Given the description of an element on the screen output the (x, y) to click on. 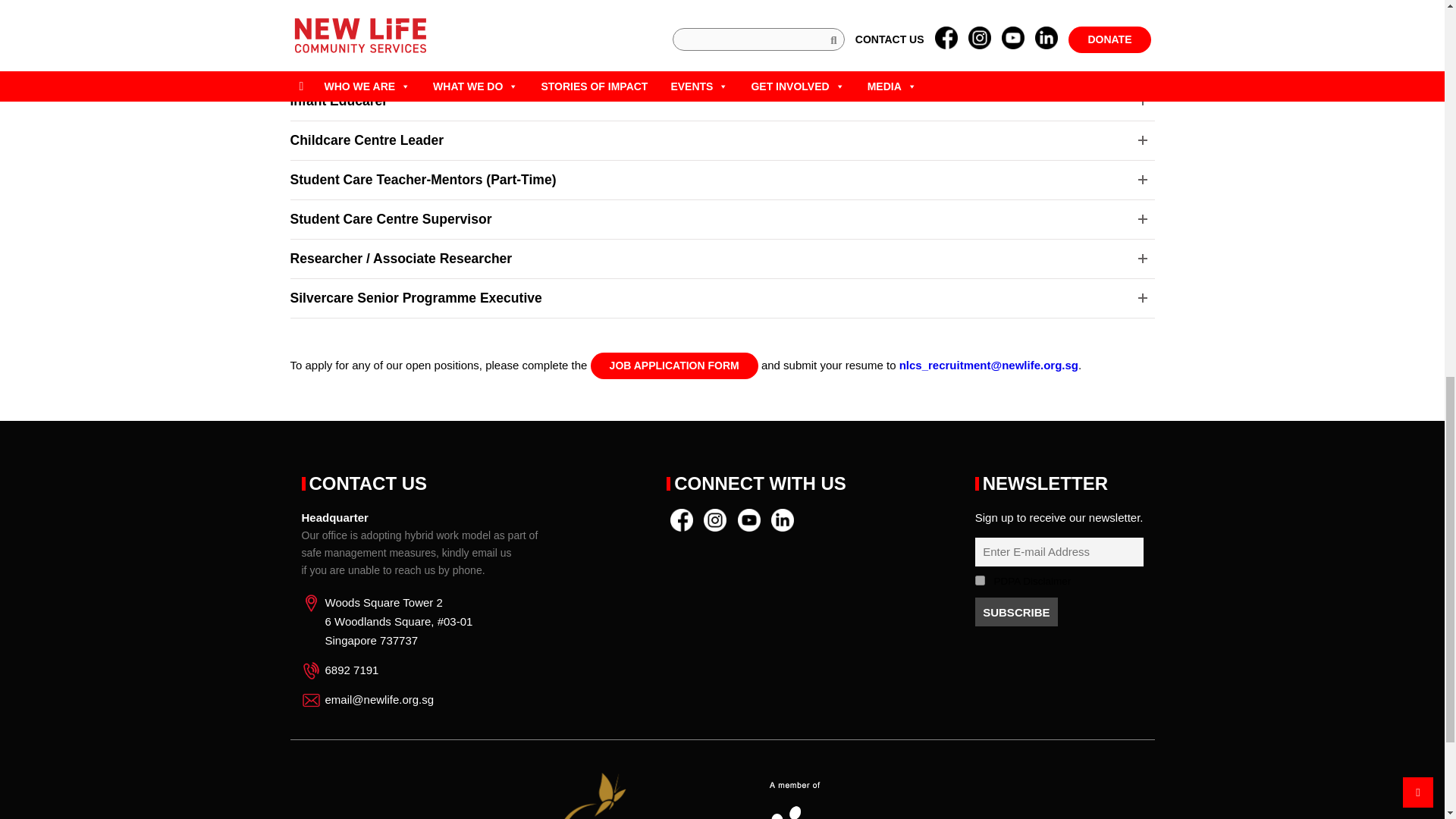
on (980, 580)
Subscribe (1016, 611)
